Given the description of an element on the screen output the (x, y) to click on. 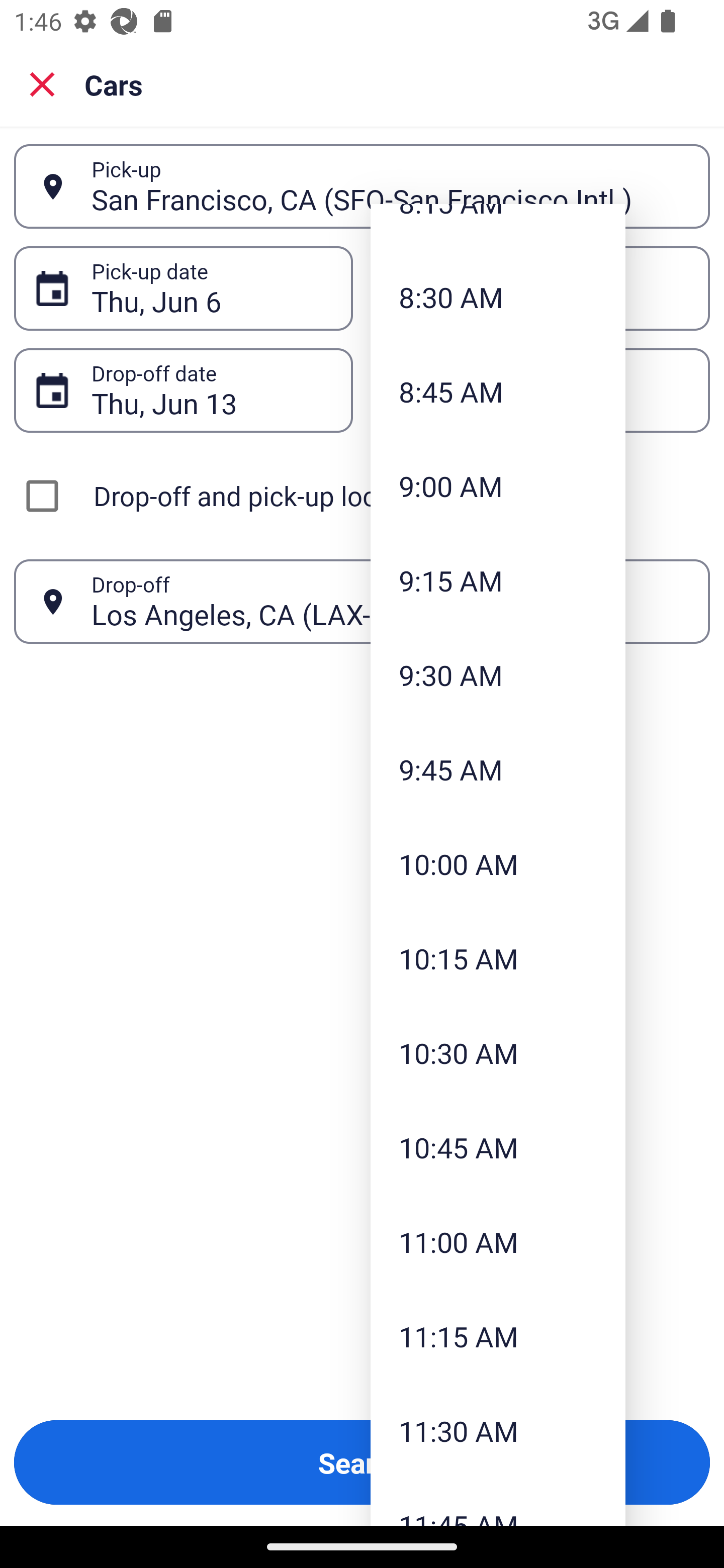
8:30 AM (497, 296)
8:45 AM (497, 391)
9:00 AM (497, 486)
9:15 AM (497, 580)
9:30 AM (497, 674)
9:45 AM (497, 769)
10:00 AM (497, 863)
10:15 AM (497, 958)
10:30 AM (497, 1052)
10:45 AM (497, 1147)
11:00 AM (497, 1241)
11:15 AM (497, 1335)
11:30 AM (497, 1430)
